Given the description of an element on the screen output the (x, y) to click on. 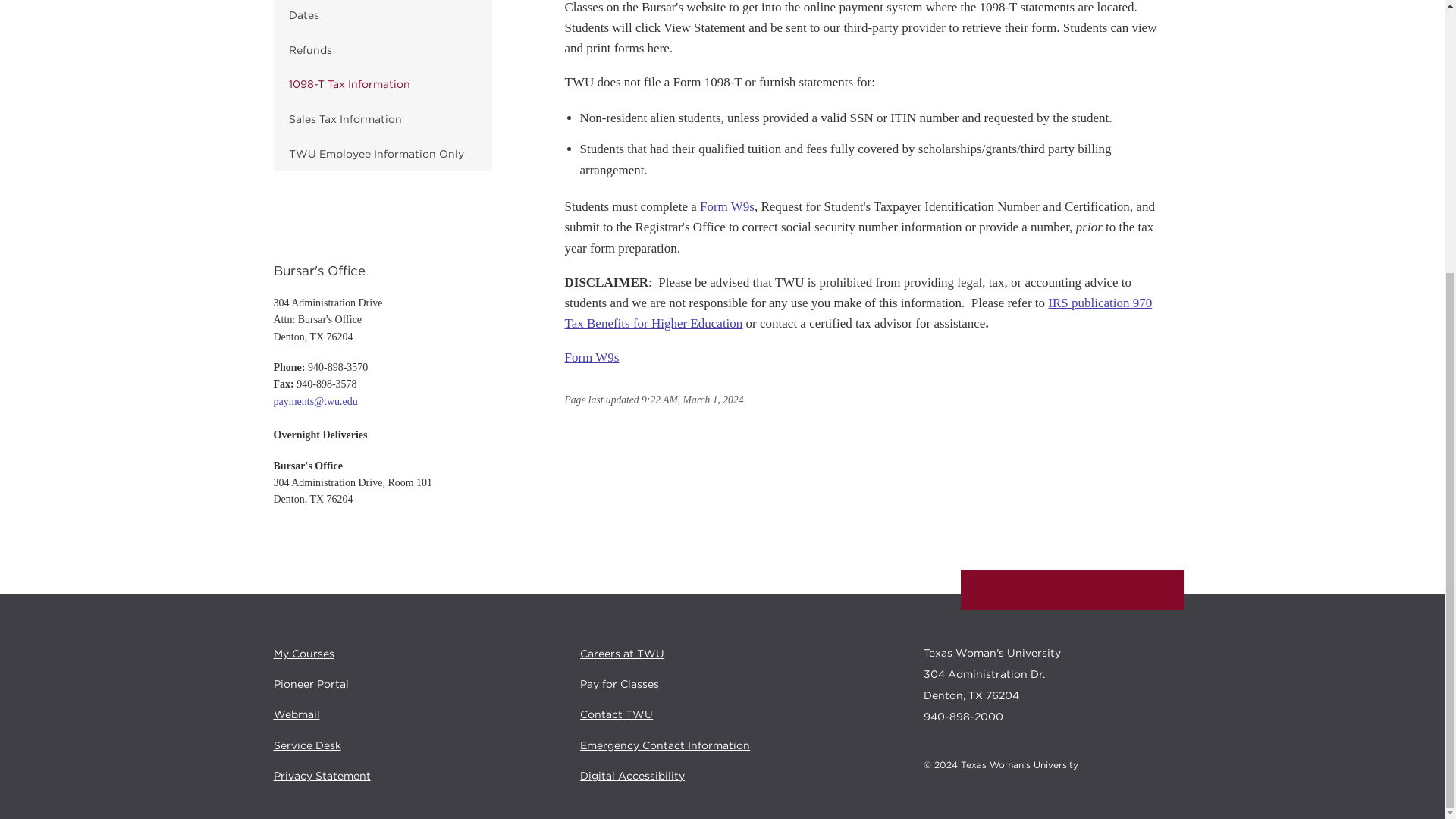
TWU's LinkedIn account (1122, 590)
TWU's Facebook account (985, 590)
TWU's YouTube account (1157, 590)
TWU's Threads account (1088, 590)
TWU's X account (1020, 590)
TWU's Instagram account (1054, 590)
